Given the description of an element on the screen output the (x, y) to click on. 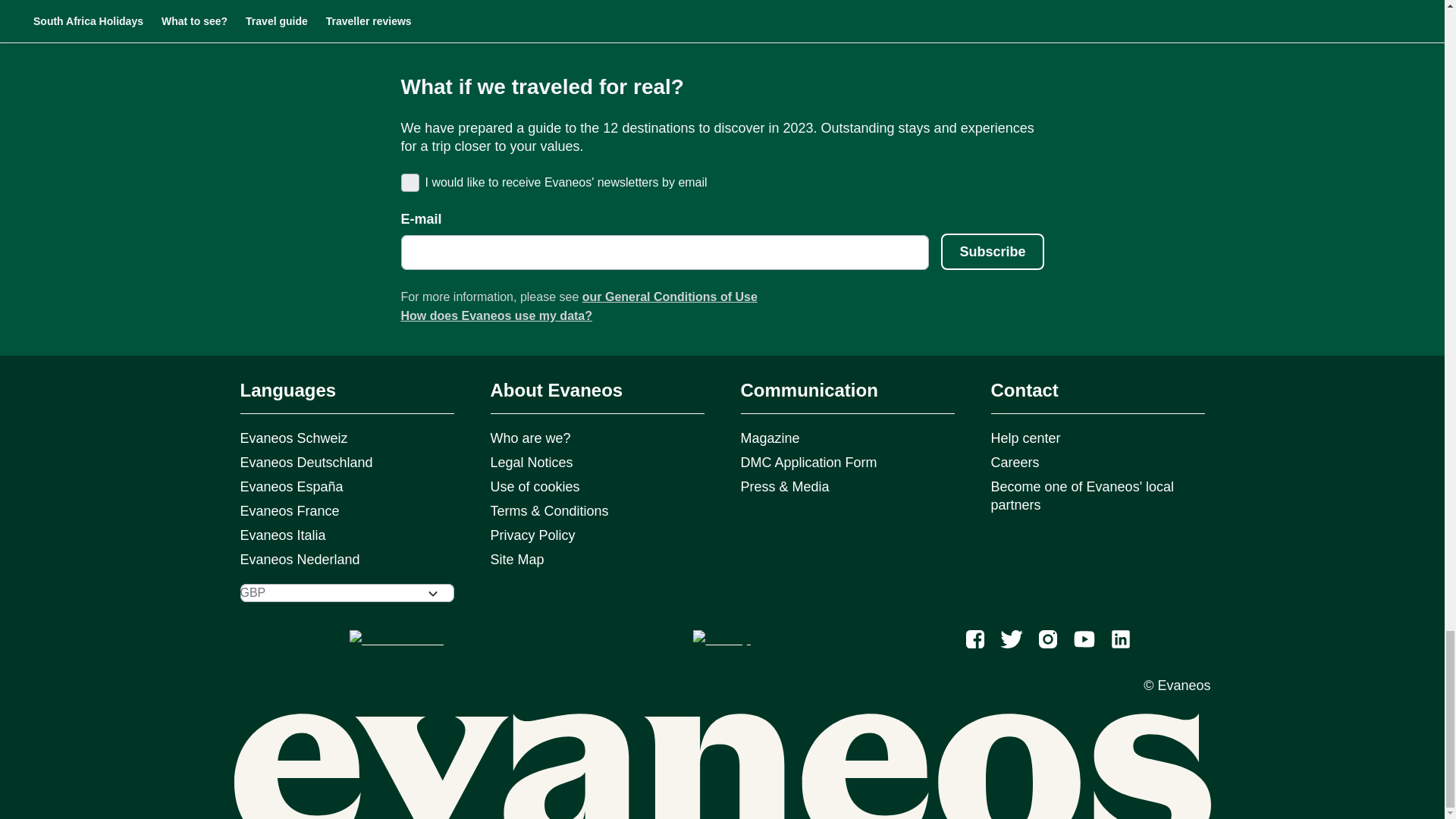
on (408, 181)
